Given the description of an element on the screen output the (x, y) to click on. 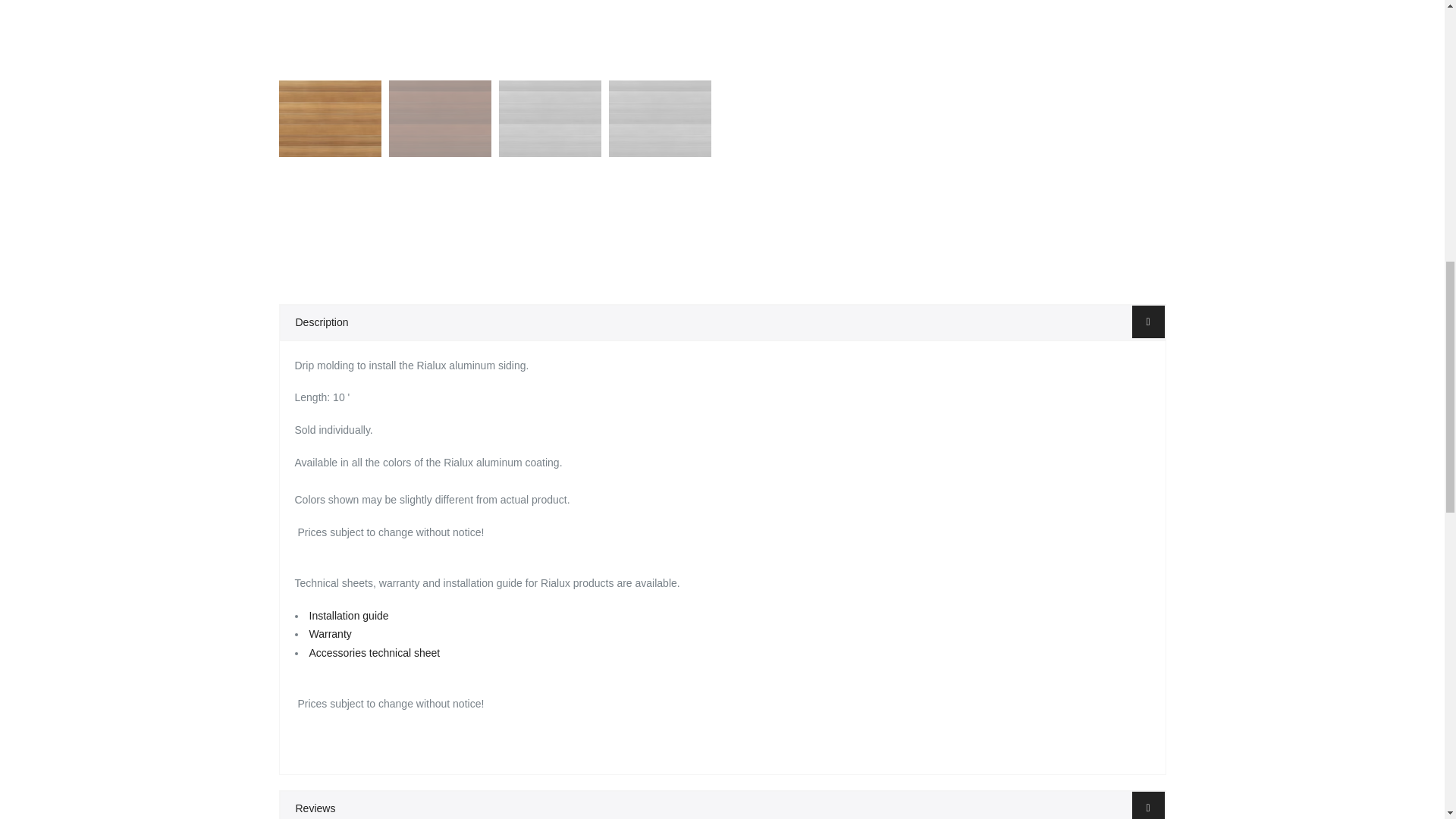
garantie tiago (330, 633)
Guide installation rialux (348, 615)
fiche technique accessoires (374, 653)
